Given the description of an element on the screen output the (x, y) to click on. 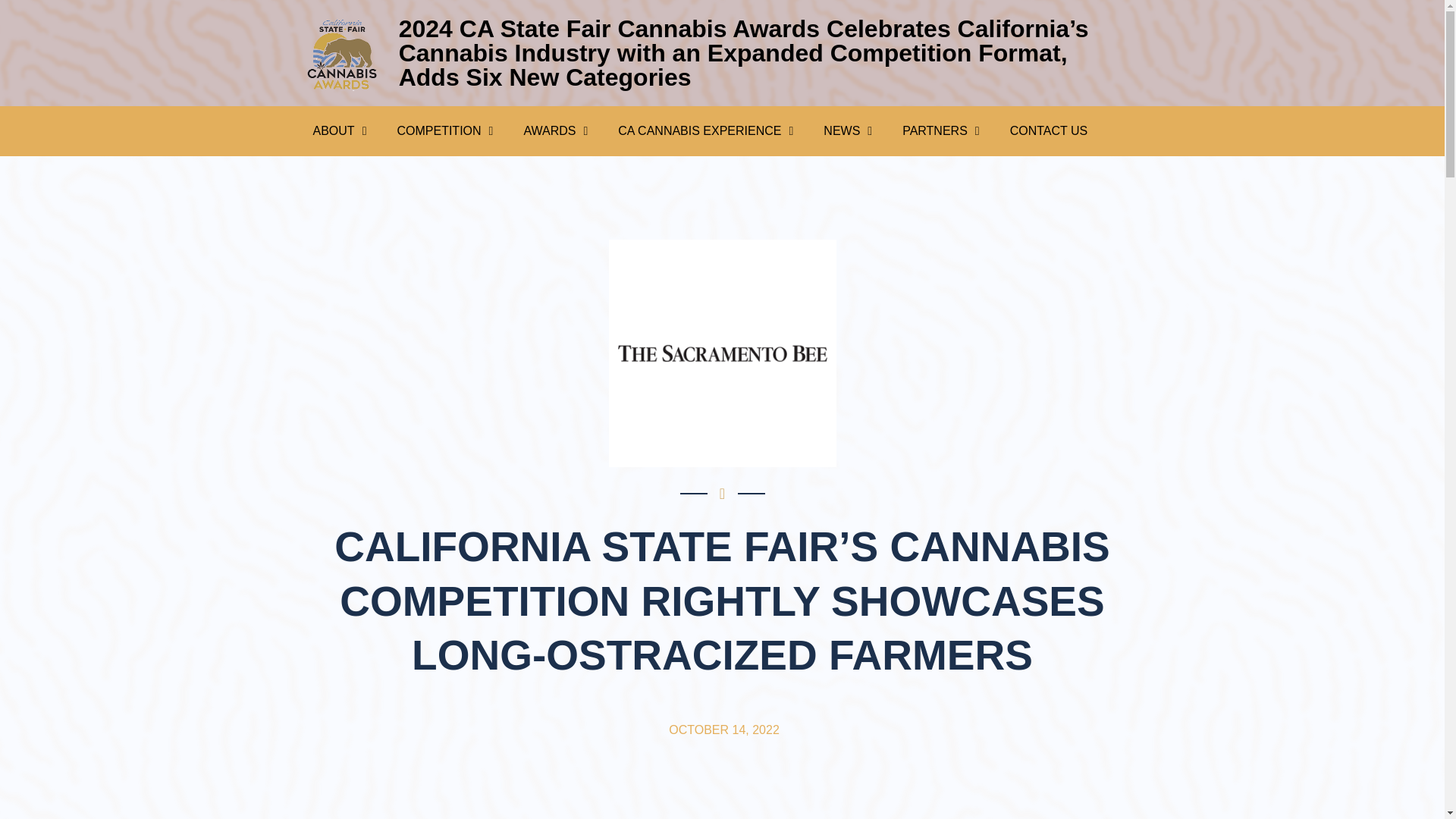
PARTNERS (940, 130)
ABOUT (339, 130)
AWARDS (555, 130)
NEWS (847, 130)
COMPETITION (444, 130)
CONTACT US (1048, 130)
CA CANNABIS EXPERIENCE (705, 130)
